Given the description of an element on the screen output the (x, y) to click on. 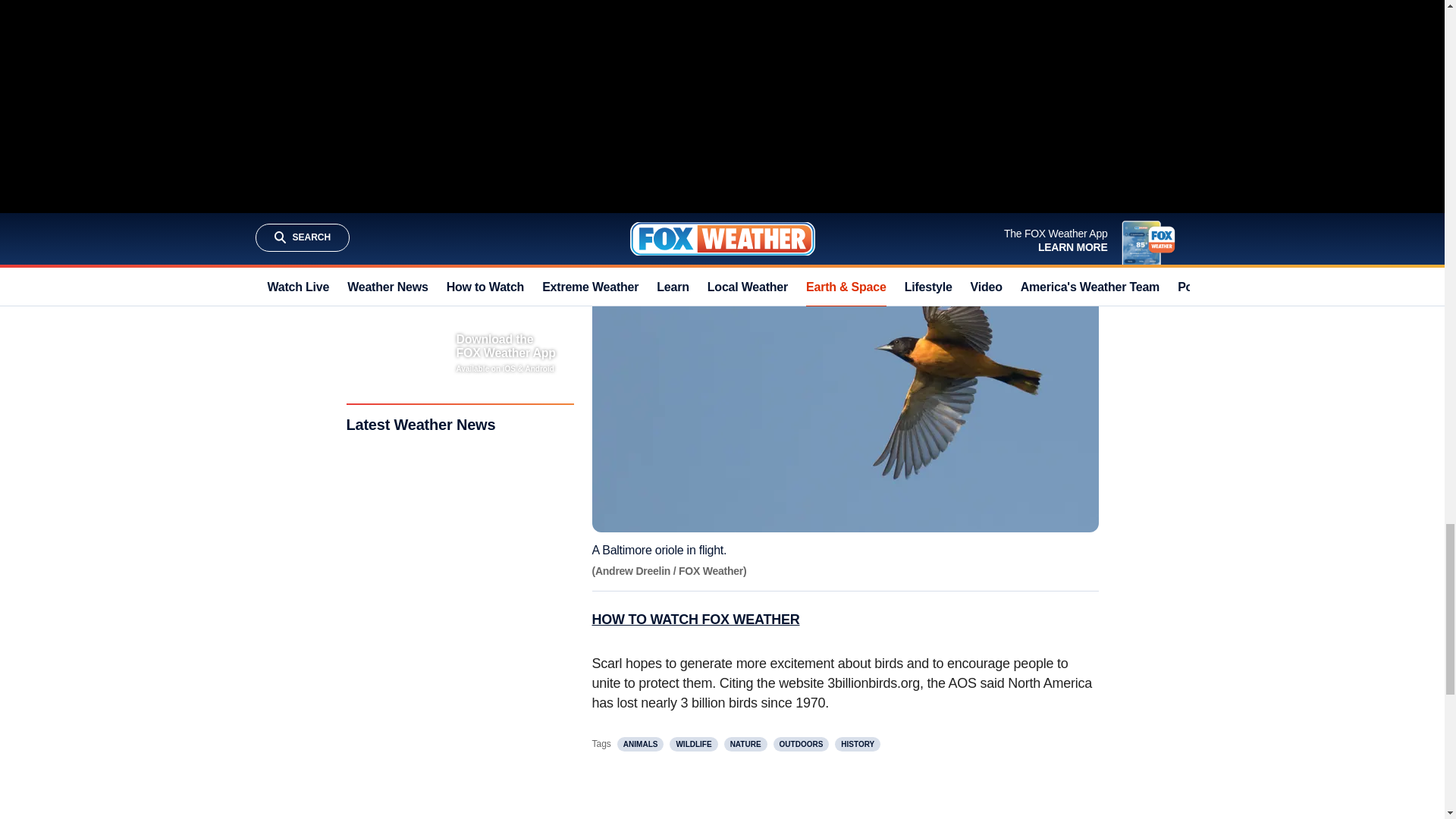
NATURE (745, 744)
ANIMALS (640, 744)
WILDLIFE (693, 744)
HOW TO WATCH FOX WEATHER (695, 619)
Alaska (1048, 46)
HISTORY (857, 744)
OUTDOORS (801, 744)
